Given the description of an element on the screen output the (x, y) to click on. 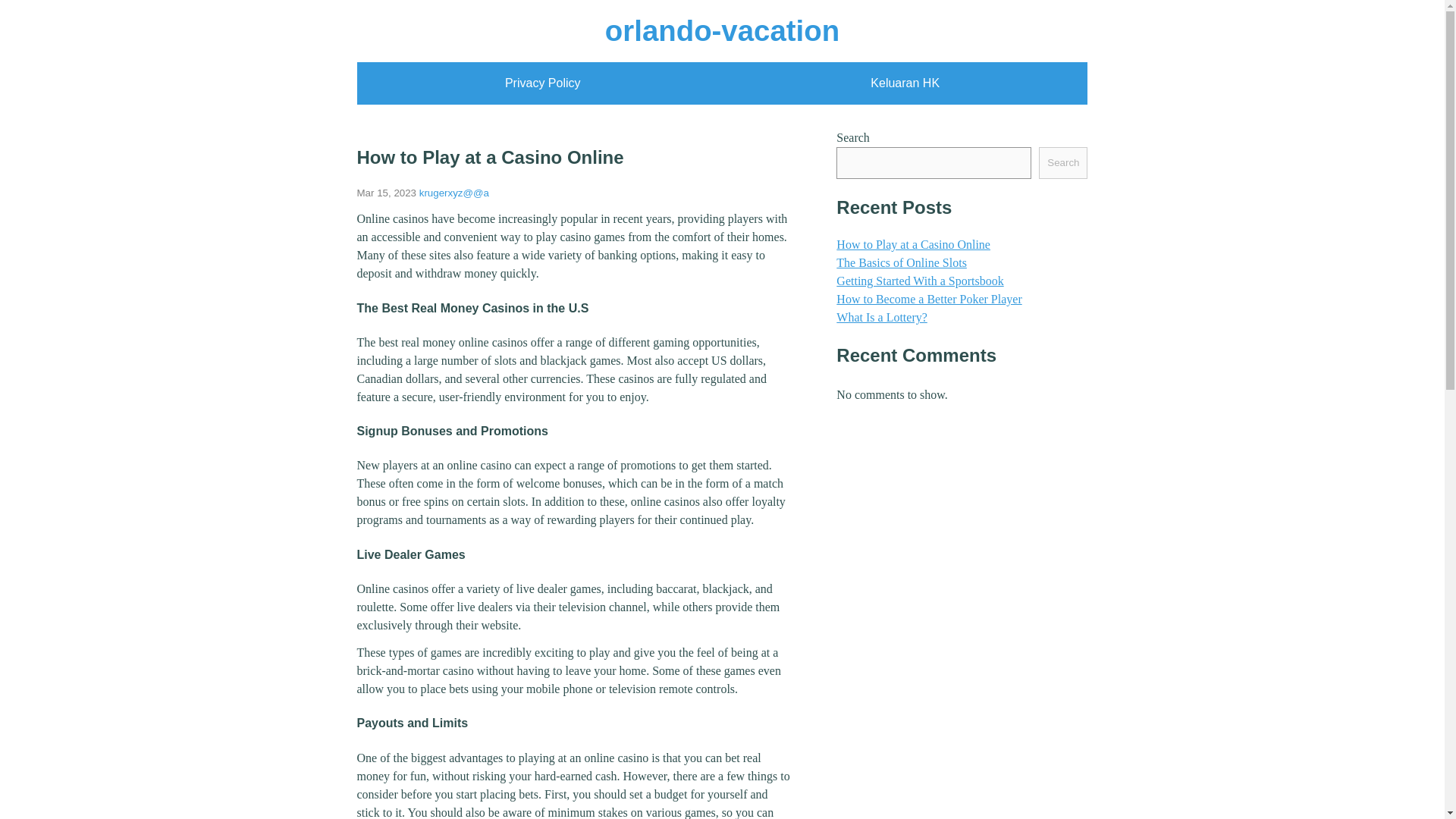
orlando-vacation (722, 30)
How to Play at a Casino Online (912, 244)
Getting Started With a Sportsbook (919, 280)
Privacy Policy (542, 82)
What Is a Lottery? (881, 317)
How to Become a Better Poker Player (928, 298)
The Basics of Online Slots (900, 262)
Search (1063, 163)
Keluaran HK (904, 82)
